Given the description of an element on the screen output the (x, y) to click on. 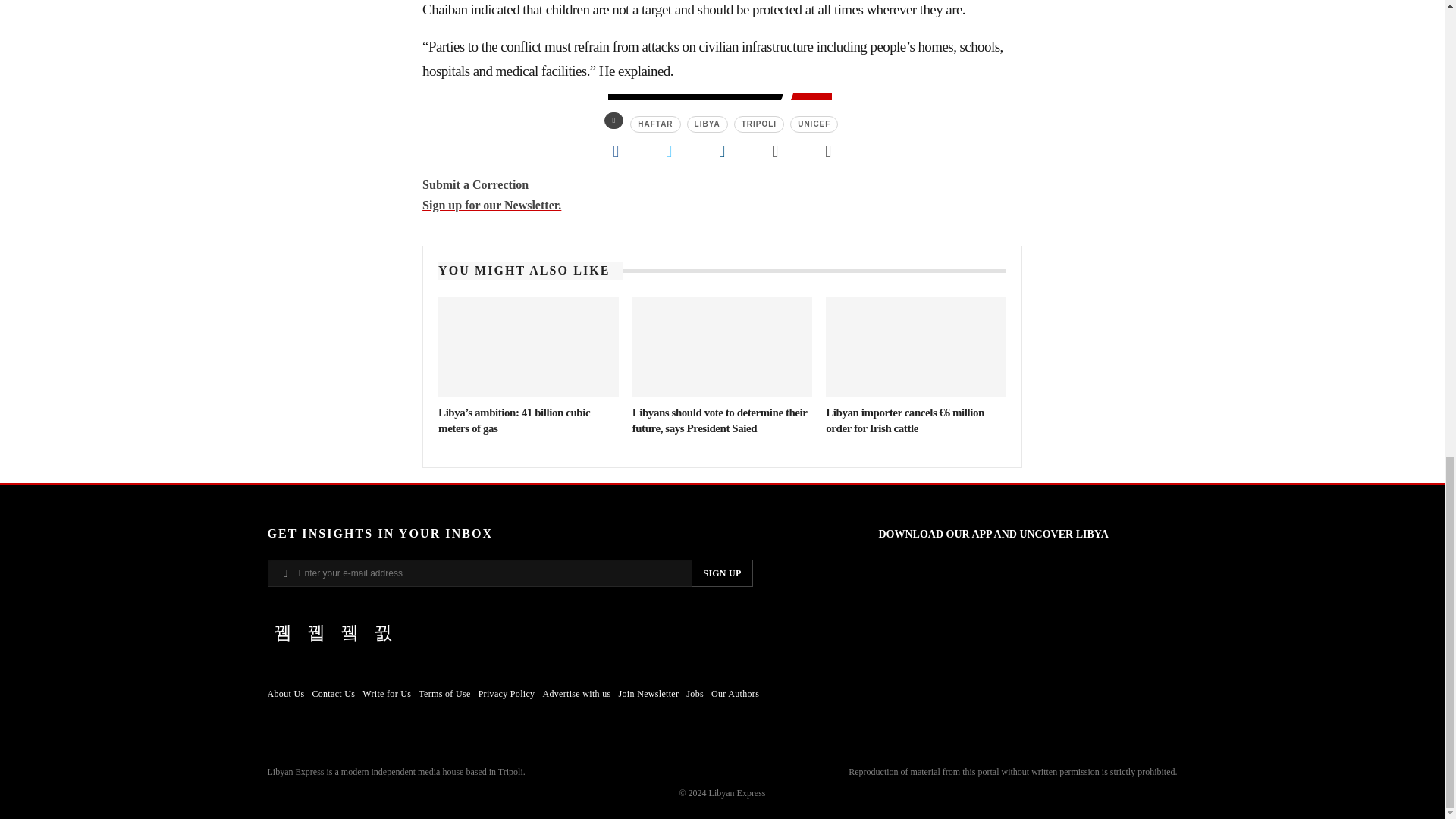
LIBYA (707, 124)
HAFTAR (654, 124)
Sign Up (721, 573)
UNICEF (814, 124)
TRIPOLI (758, 124)
